Given the description of an element on the screen output the (x, y) to click on. 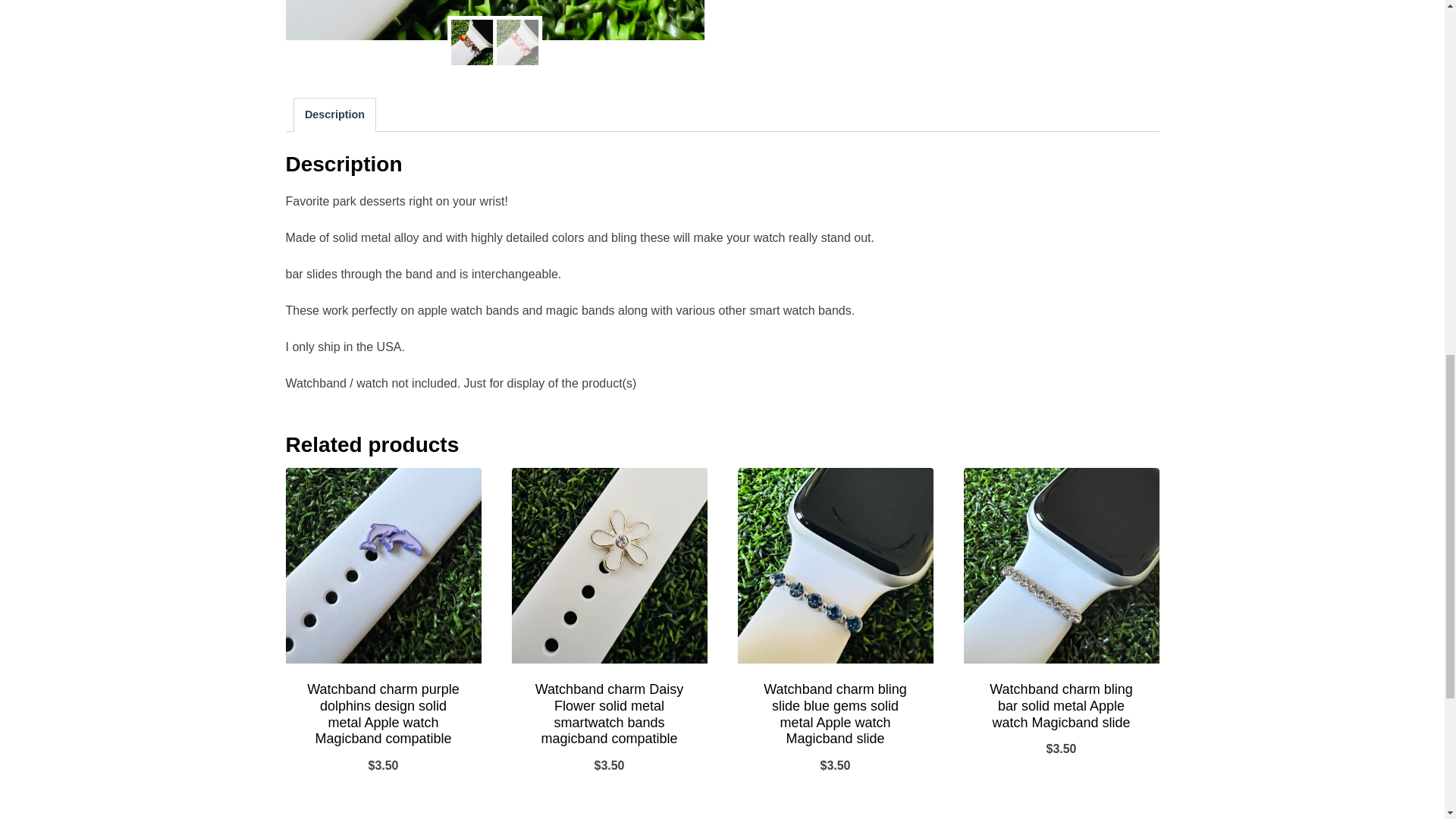
Description (334, 114)
Park Deserts (914, 19)
dessertscolorS (494, 20)
